Given the description of an element on the screen output the (x, y) to click on. 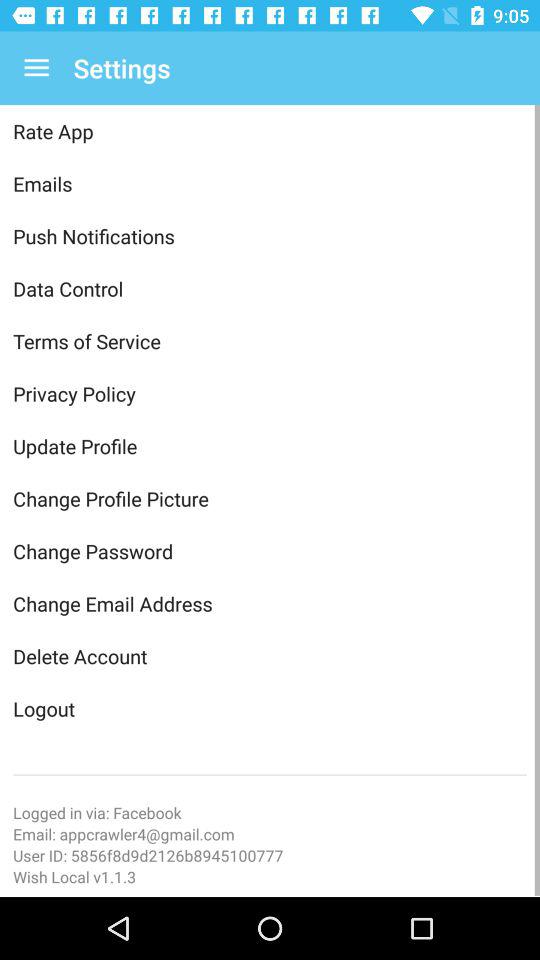
select item below the terms of service icon (269, 393)
